Given the description of an element on the screen output the (x, y) to click on. 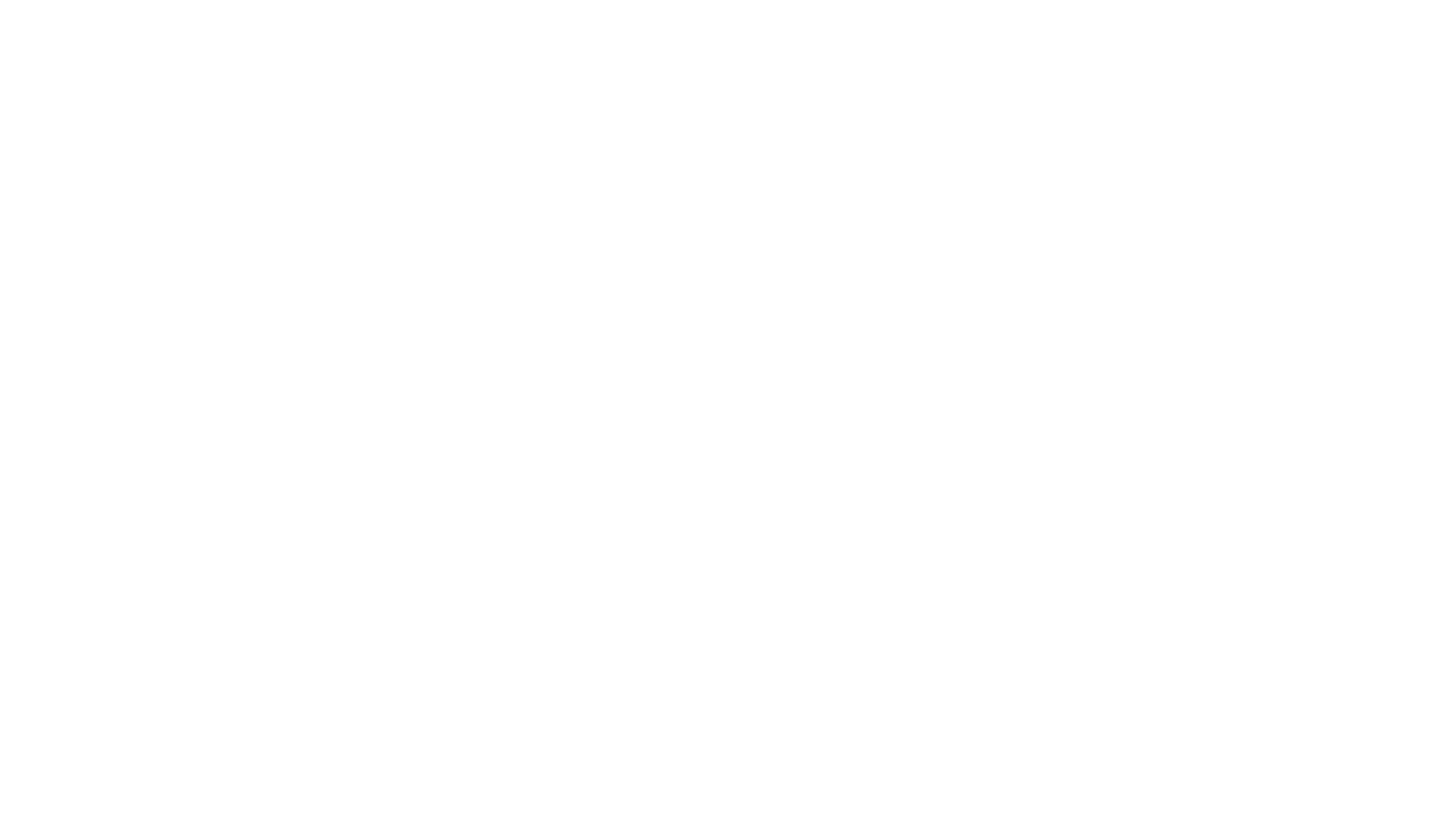
OUR SERVICES Element type: text (1251, 29)
SOCIAL Element type: text (1317, 29)
Twitter Element type: text (762, 529)
CONTACT US Element type: text (1379, 29)
Linkedin Element type: text (726, 529)
OUR TEAM Element type: text (1179, 29)
HOME Element type: text (1061, 29)
ABOUT US Element type: text (1115, 29)
Facebook Element type: text (688, 529)
